Given the description of an element on the screen output the (x, y) to click on. 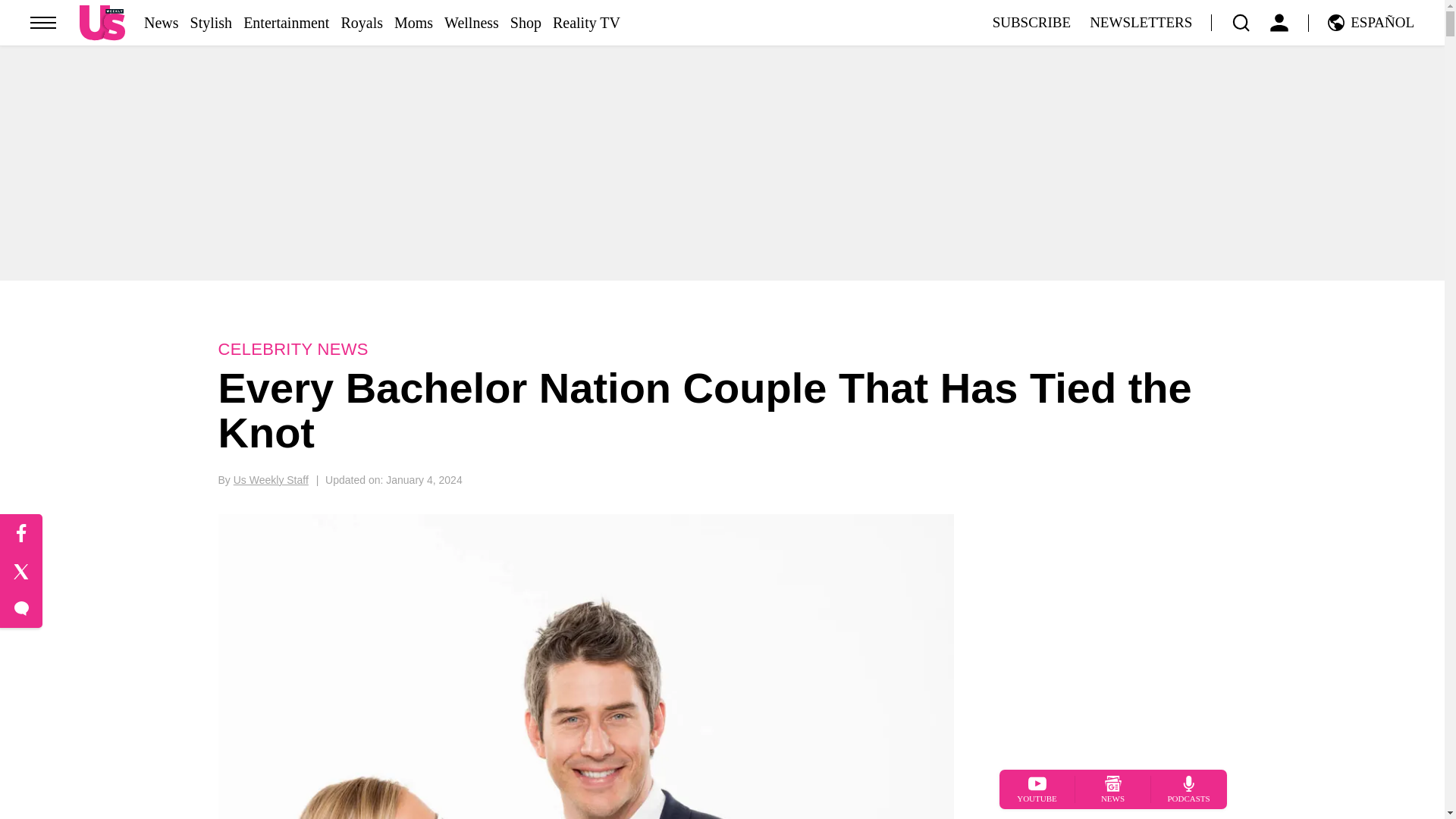
Click to share on Facebook (21, 533)
Click to share on Twitter (21, 571)
Posts by Us Weekly Staff (270, 480)
